Given the description of an element on the screen output the (x, y) to click on. 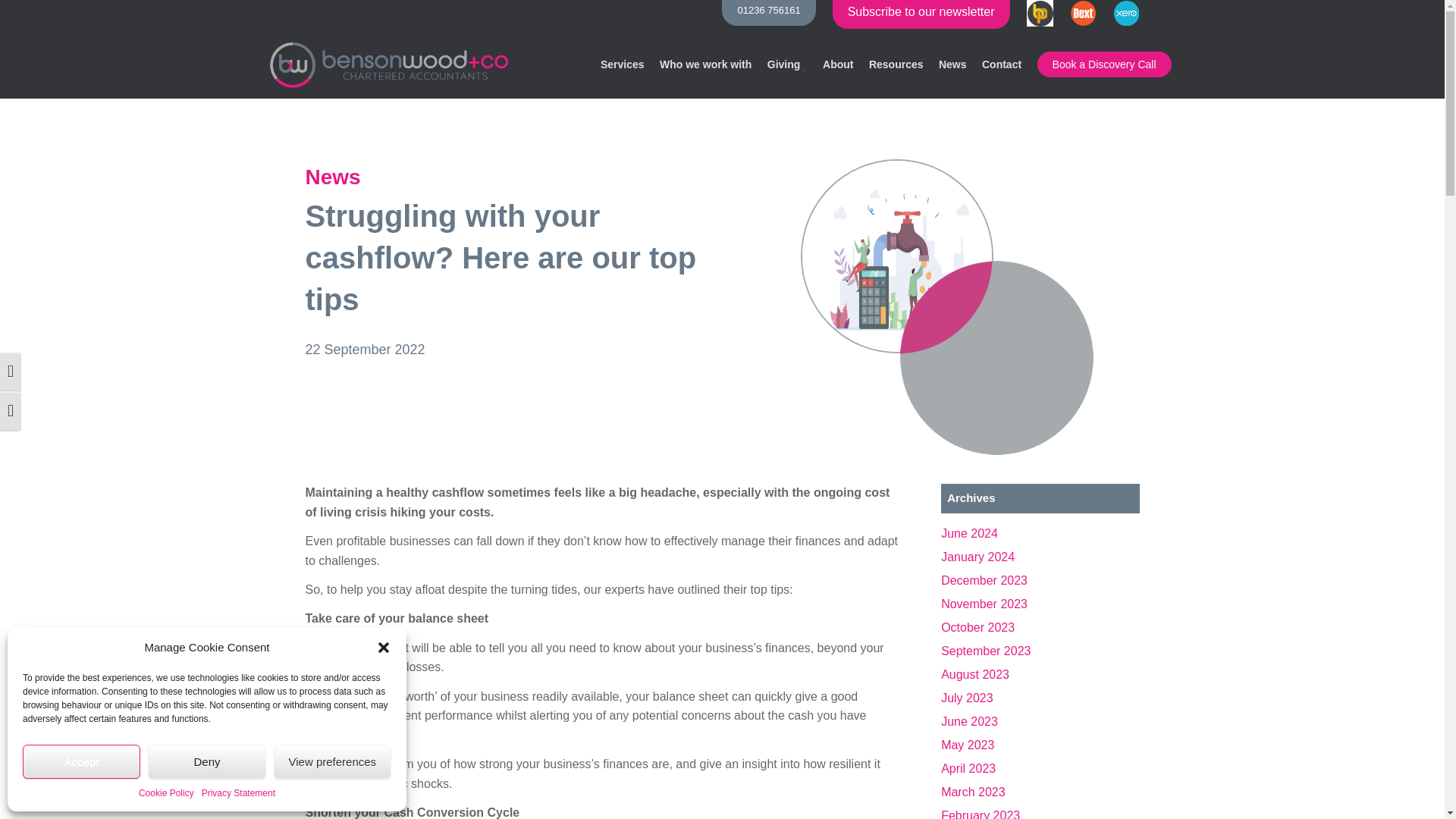
01236 756161 (768, 12)
Deny (206, 761)
Accept (81, 761)
Services (622, 64)
Subscribe to our newsletter (921, 14)
View preferences (332, 761)
Privacy Statement (238, 793)
Cookie Policy (165, 793)
